Given the description of an element on the screen output the (x, y) to click on. 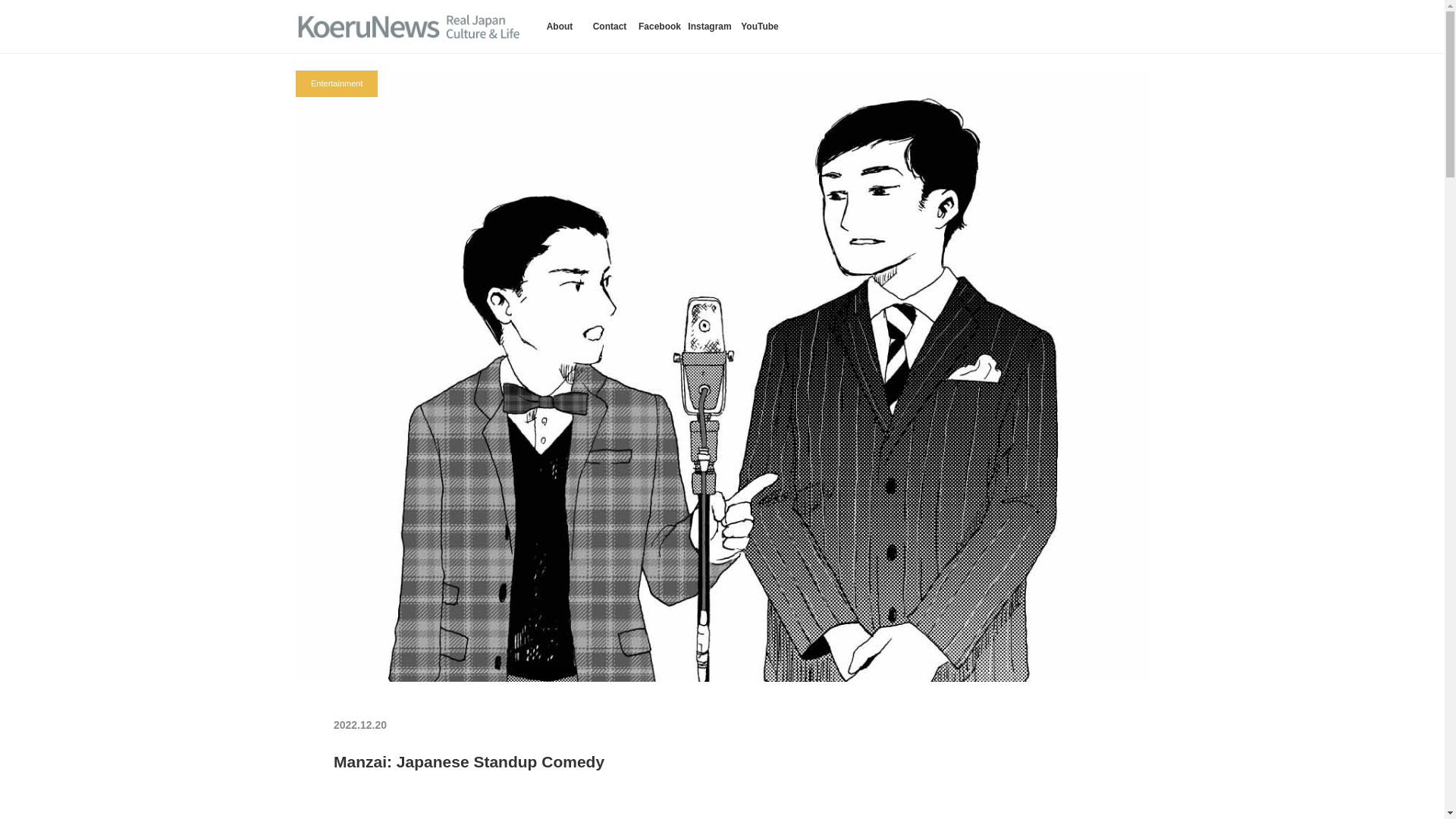
About (559, 26)
Contact (609, 26)
Entertainment (336, 83)
Instagram (709, 26)
YouTube (759, 26)
Facebook (659, 26)
